Given the description of an element on the screen output the (x, y) to click on. 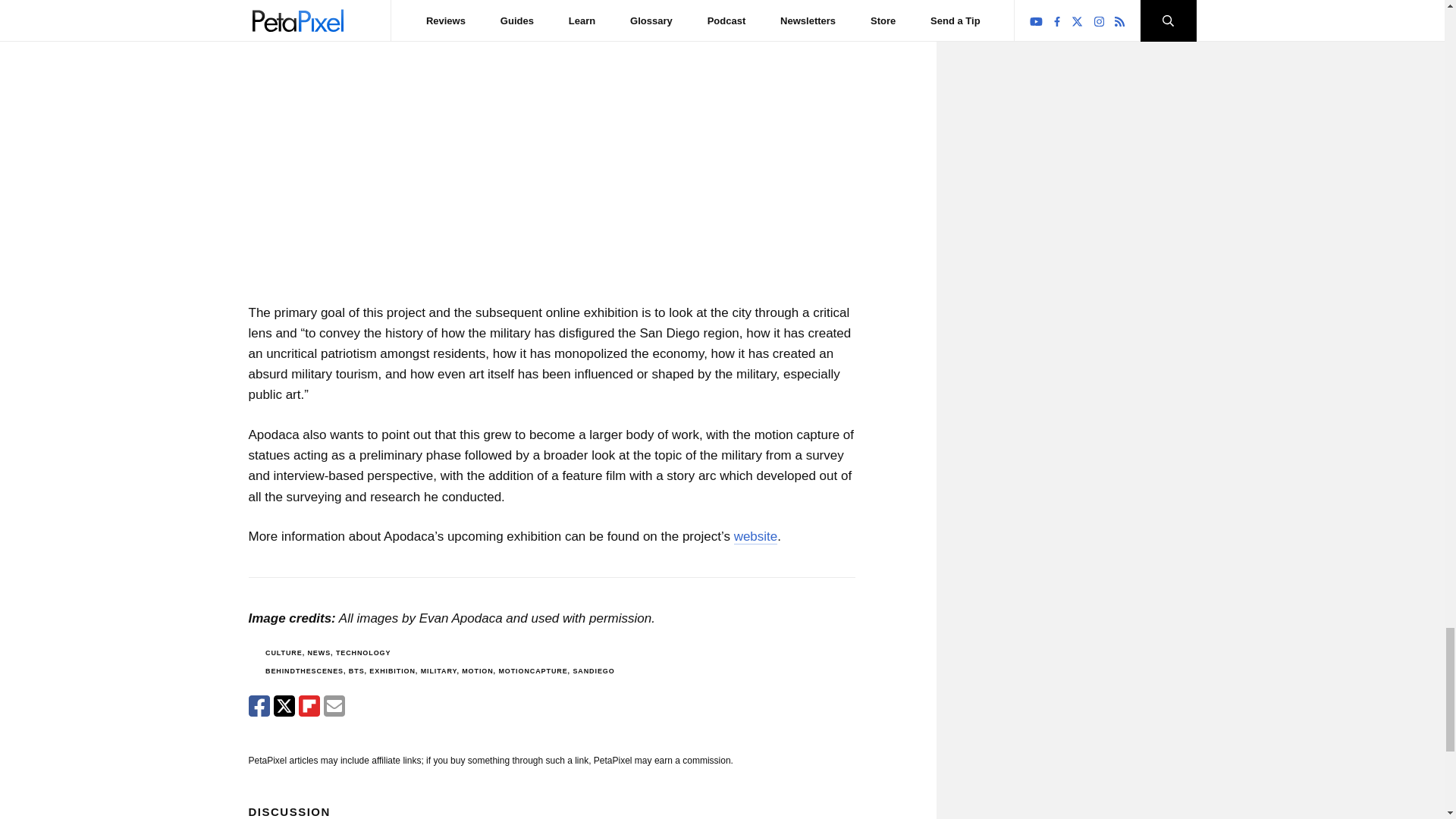
NEWS (318, 652)
EXHIBITION (391, 670)
Share on X (283, 705)
Share on facebook (258, 705)
Share on Flipboard (309, 705)
TECHNOLOGY (363, 652)
BTS (357, 670)
MOTIONCAPTURE (532, 670)
SANDIEGO (593, 670)
CULTURE (283, 652)
BEHINDTHESCENES (303, 670)
Email this article (333, 705)
MILITARY (438, 670)
MOTION (477, 670)
website (755, 536)
